Given the description of an element on the screen output the (x, y) to click on. 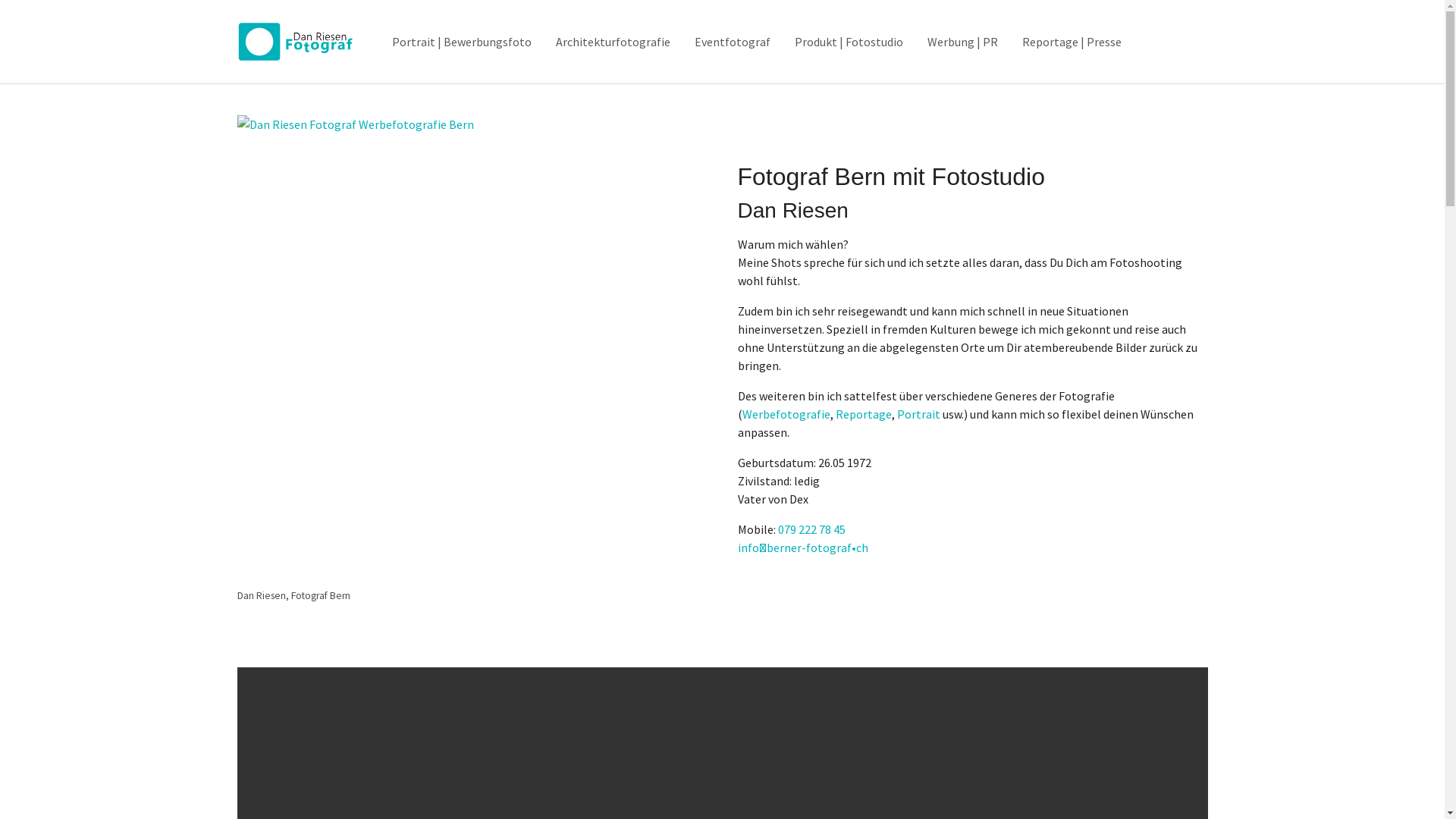
Produkt | Fotostudio Element type: text (848, 41)
Portrait Element type: text (917, 413)
Reportage | Presse Element type: text (1071, 41)
Portrait | Bewerbungsfoto Element type: text (461, 41)
Website Fotograf Bern Element type: hover (298, 41)
Werbefotografie Element type: text (785, 413)
Dan Riesen, Fotograf Bern Element type: hover (471, 350)
Werbung | PR Element type: text (962, 41)
Eventfotograf Element type: text (732, 41)
Architekturfotografie Element type: text (612, 41)
079 222 78 45 Element type: text (811, 528)
Reportage Element type: text (863, 413)
